Given the description of an element on the screen output the (x, y) to click on. 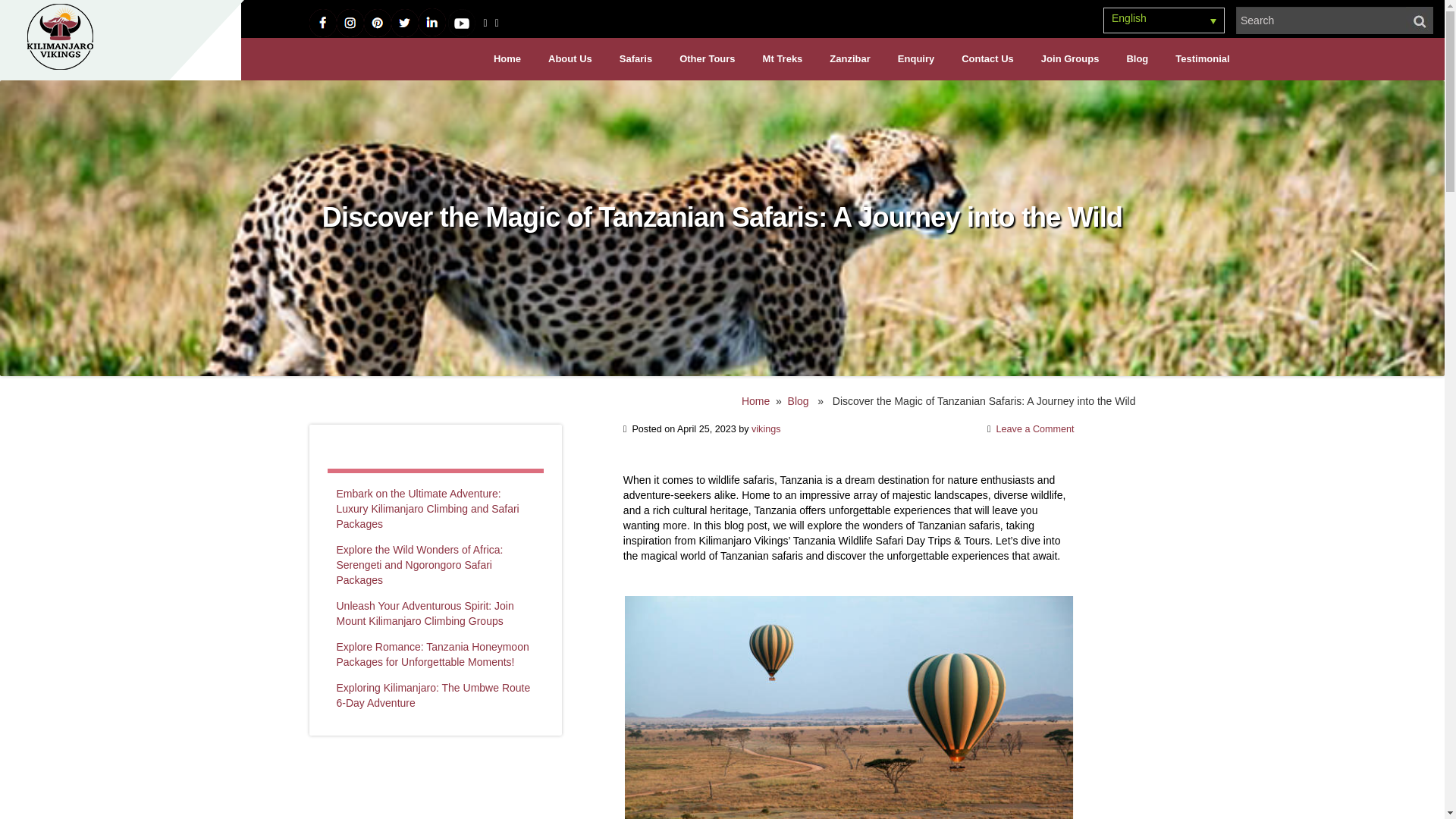
Other Tours (706, 58)
Home (507, 58)
English (1163, 20)
Testimonial (1202, 58)
Zanzibar (849, 58)
Enquiry (915, 58)
Search (1321, 20)
Leave a Comment (1034, 429)
Kilimanjaro Vikings (59, 38)
Home (755, 400)
